Given the description of an element on the screen output the (x, y) to click on. 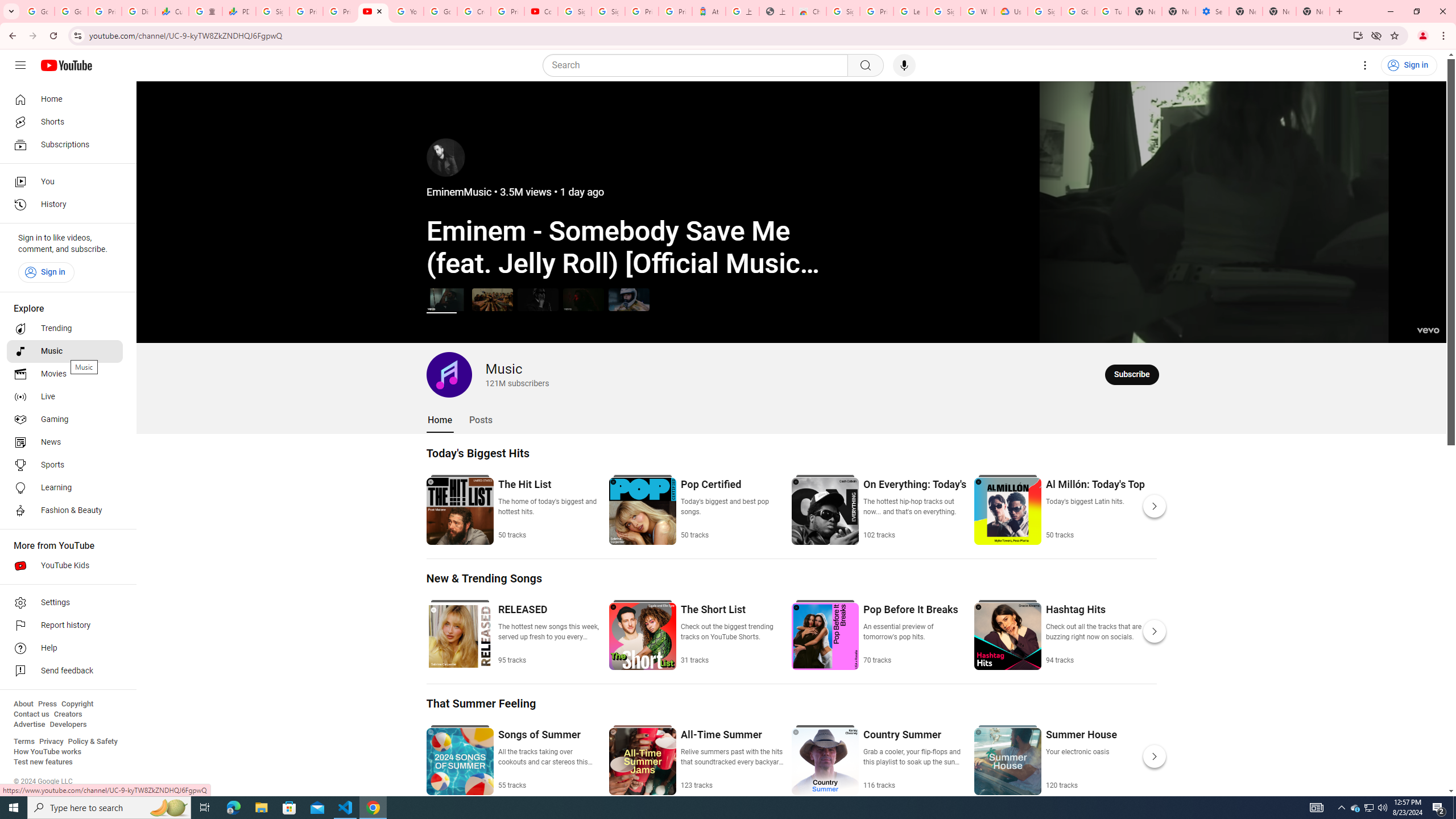
Advertise (29, 724)
YouTube Kids (64, 565)
Report history (64, 625)
Trending (64, 328)
Settings - Addresses and more (1212, 11)
Sign in - Google Accounts (1043, 11)
Turn cookies on or off - Computer - Google Account Help (1111, 11)
New Tab (1313, 11)
Create your Google Account (474, 11)
